Given the description of an element on the screen output the (x, y) to click on. 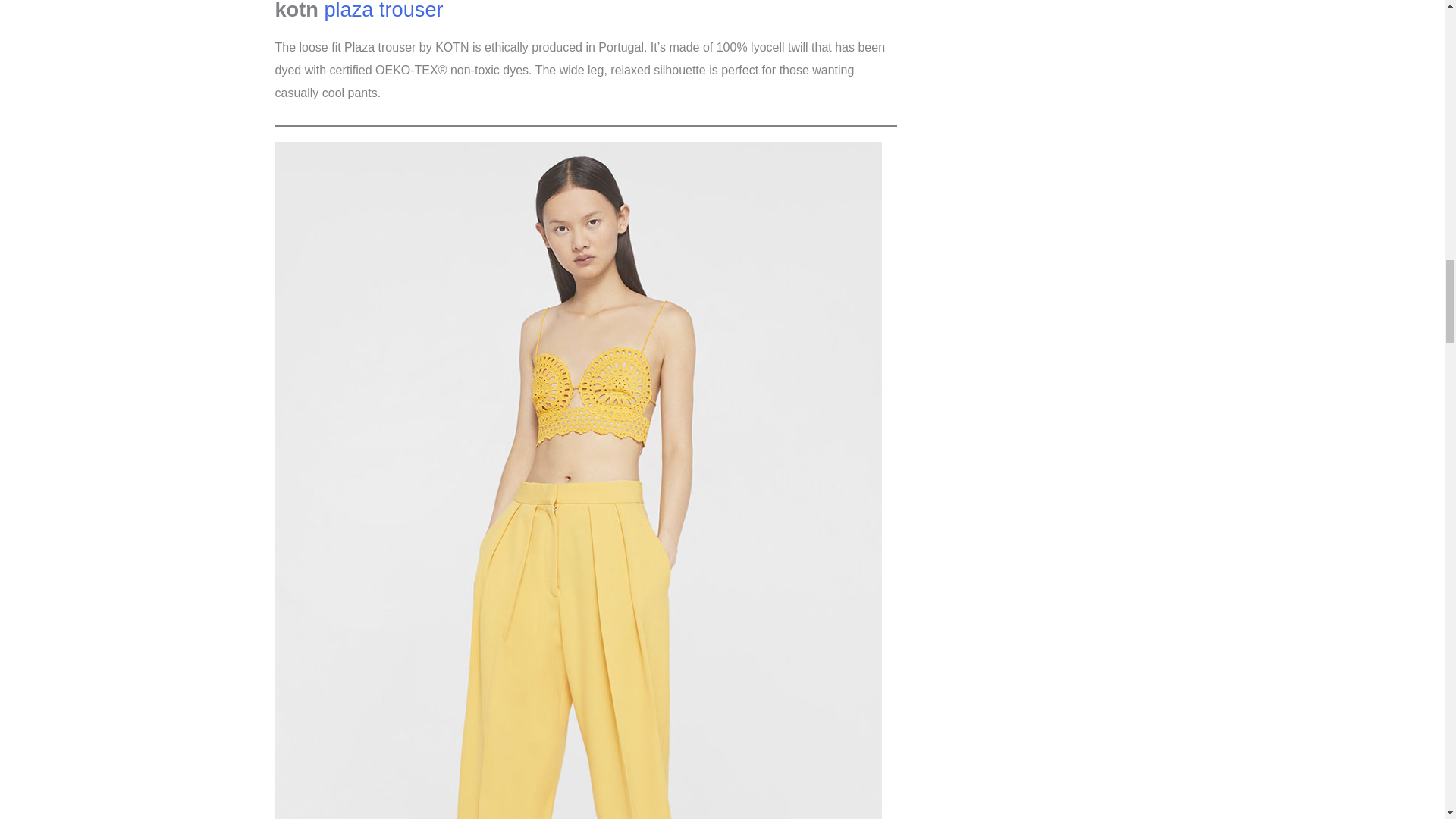
plaza trouser (382, 10)
